Given the description of an element on the screen output the (x, y) to click on. 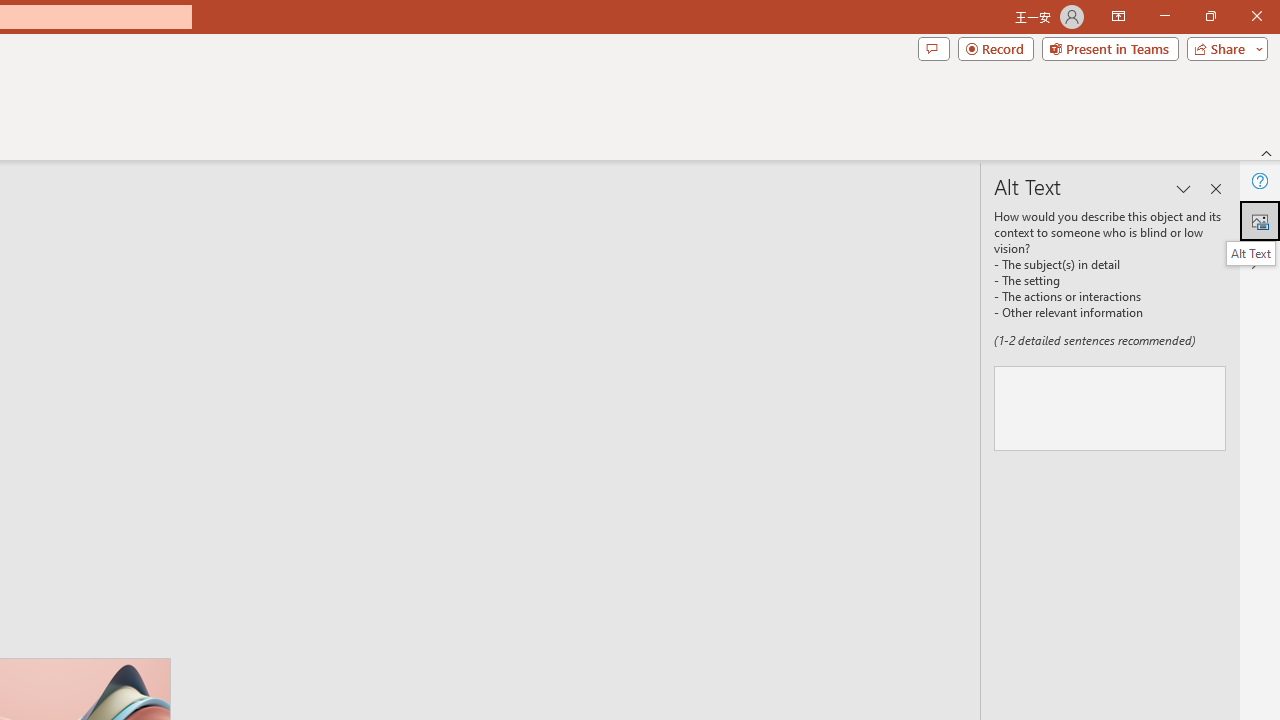
Description (1110, 408)
